Given the description of an element on the screen output the (x, y) to click on. 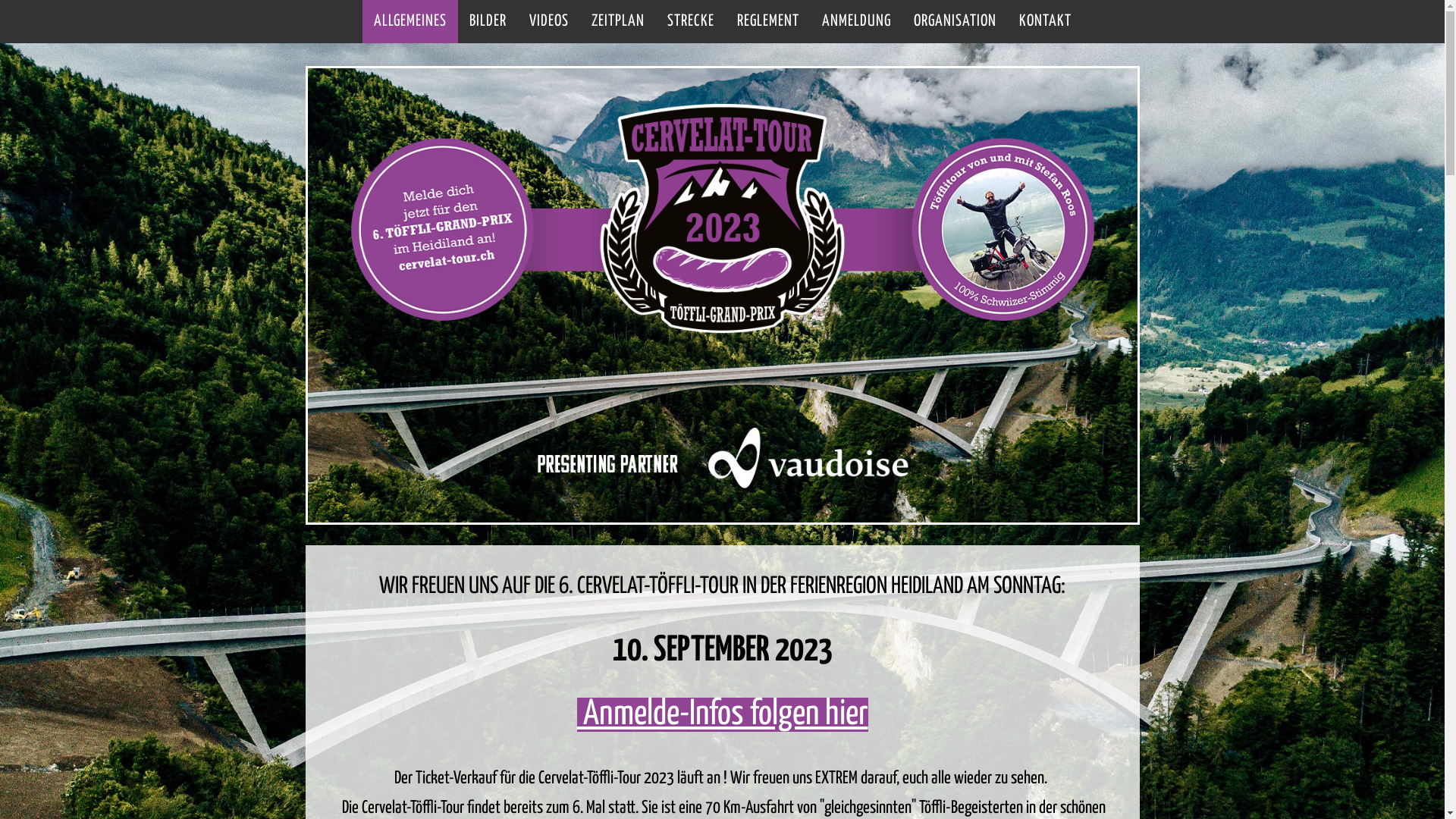
STRECKE Element type: text (689, 21)
ZEITPLAN Element type: text (617, 21)
KONTAKT Element type: text (1044, 21)
BILDER Element type: text (487, 21)
REGLEMENT Element type: text (766, 21)
ANMELDUNG Element type: text (855, 21)
 Anmelde-Infos folgen hier Element type: text (721, 714)
ALLGEMEINES Element type: text (410, 21)
ORGANISATION Element type: text (954, 21)
VIDEOS Element type: text (548, 21)
